Given the description of an element on the screen output the (x, y) to click on. 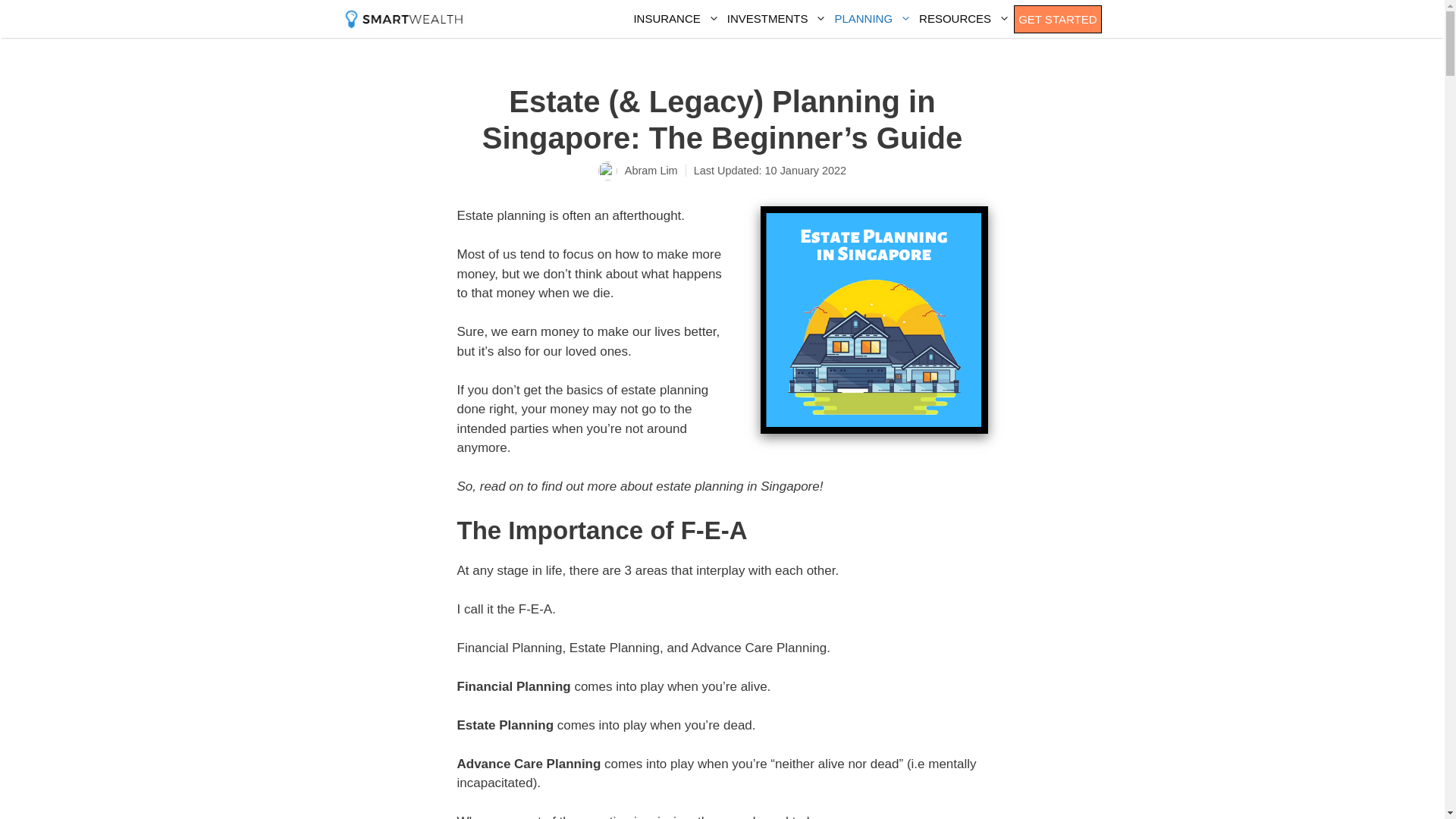
SmartWealth Singapore (403, 18)
View all posts by Abram Lim (651, 170)
